Given the description of an element on the screen output the (x, y) to click on. 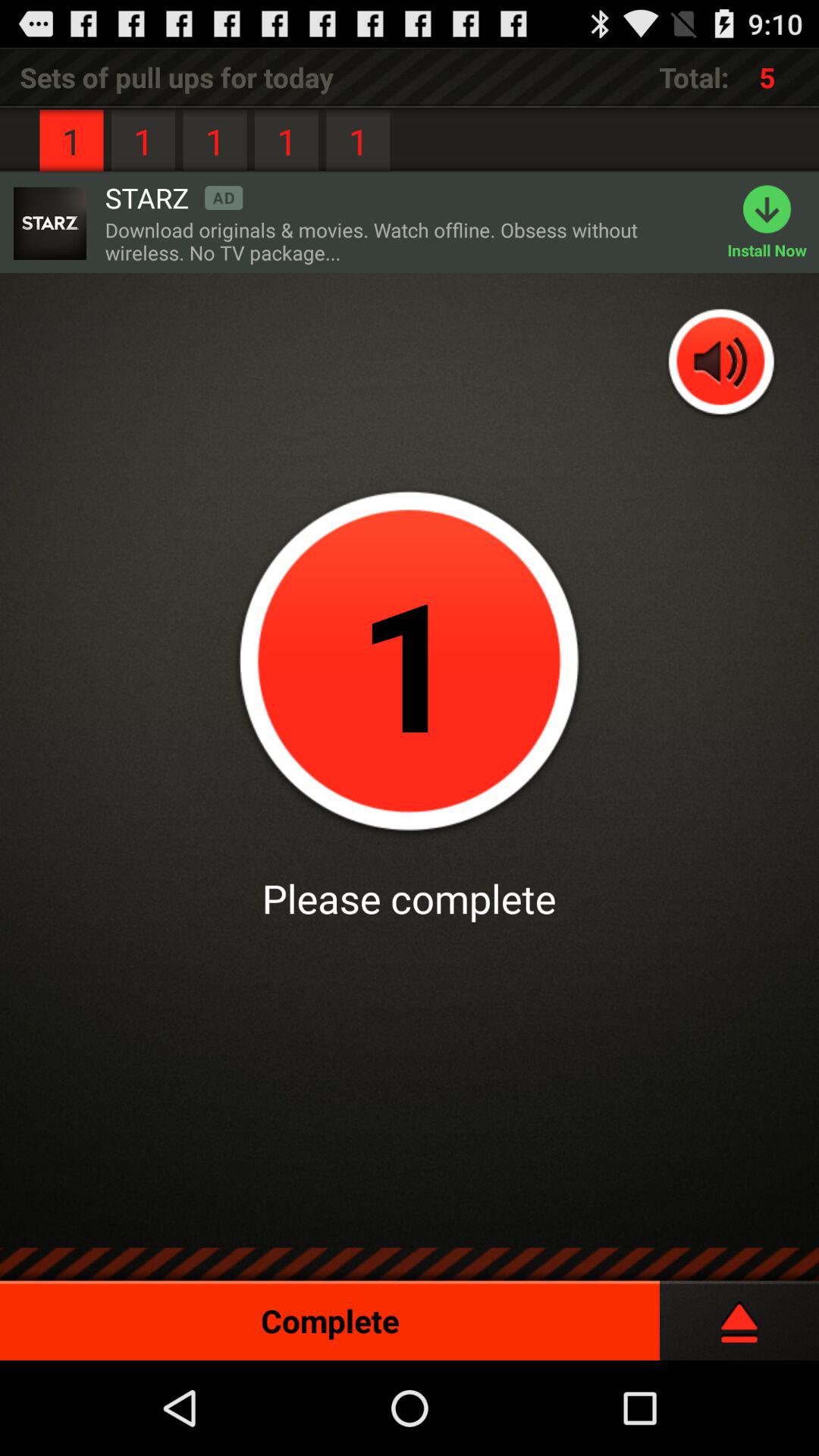
launch the item to the right of the 1 (173, 197)
